Given the description of an element on the screen output the (x, y) to click on. 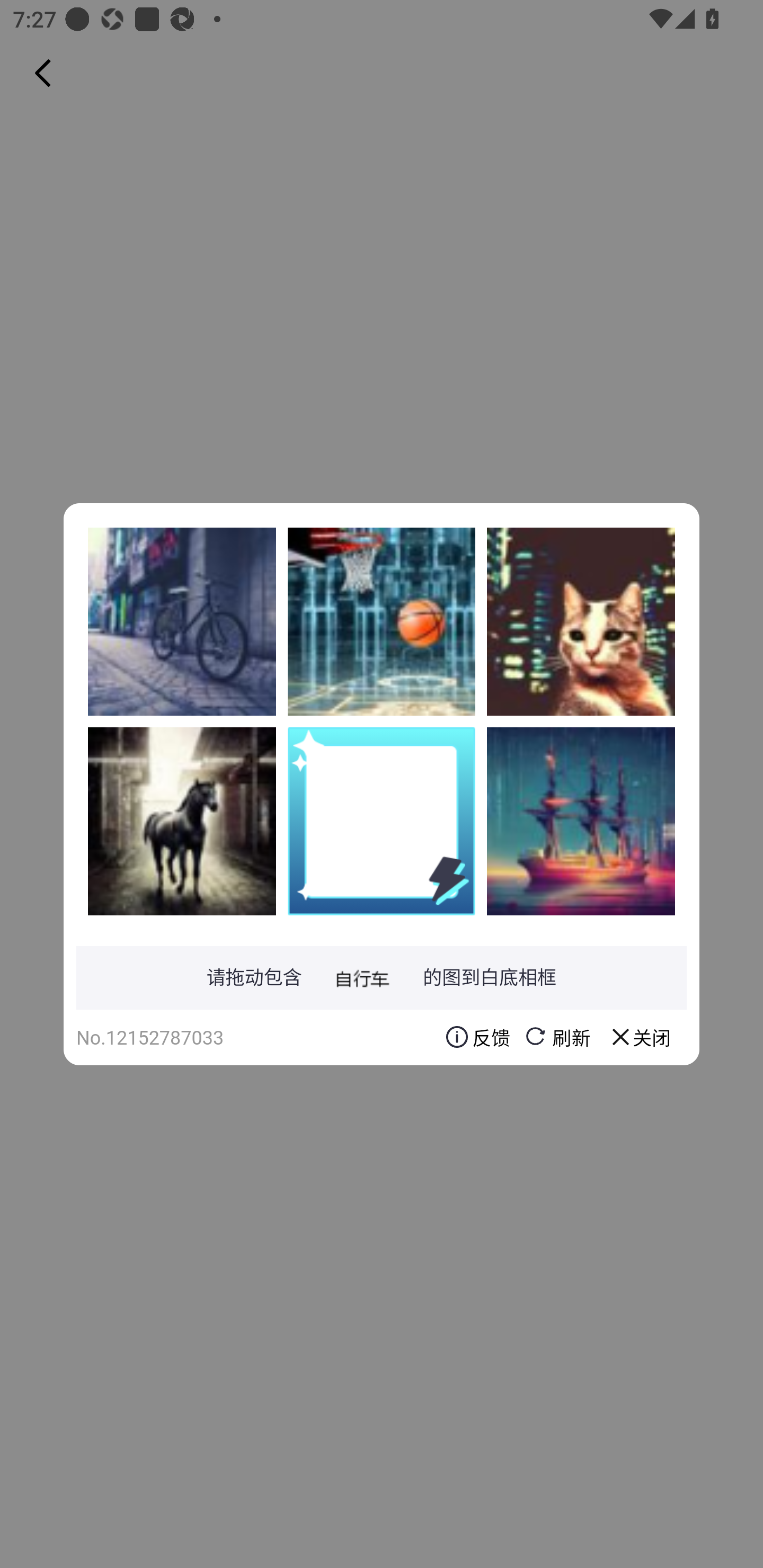
8T4OdX (381, 621)
Pir973PuPfmcn7nGXS7z6NlZIZJzPP (580, 621)
